Given the description of an element on the screen output the (x, y) to click on. 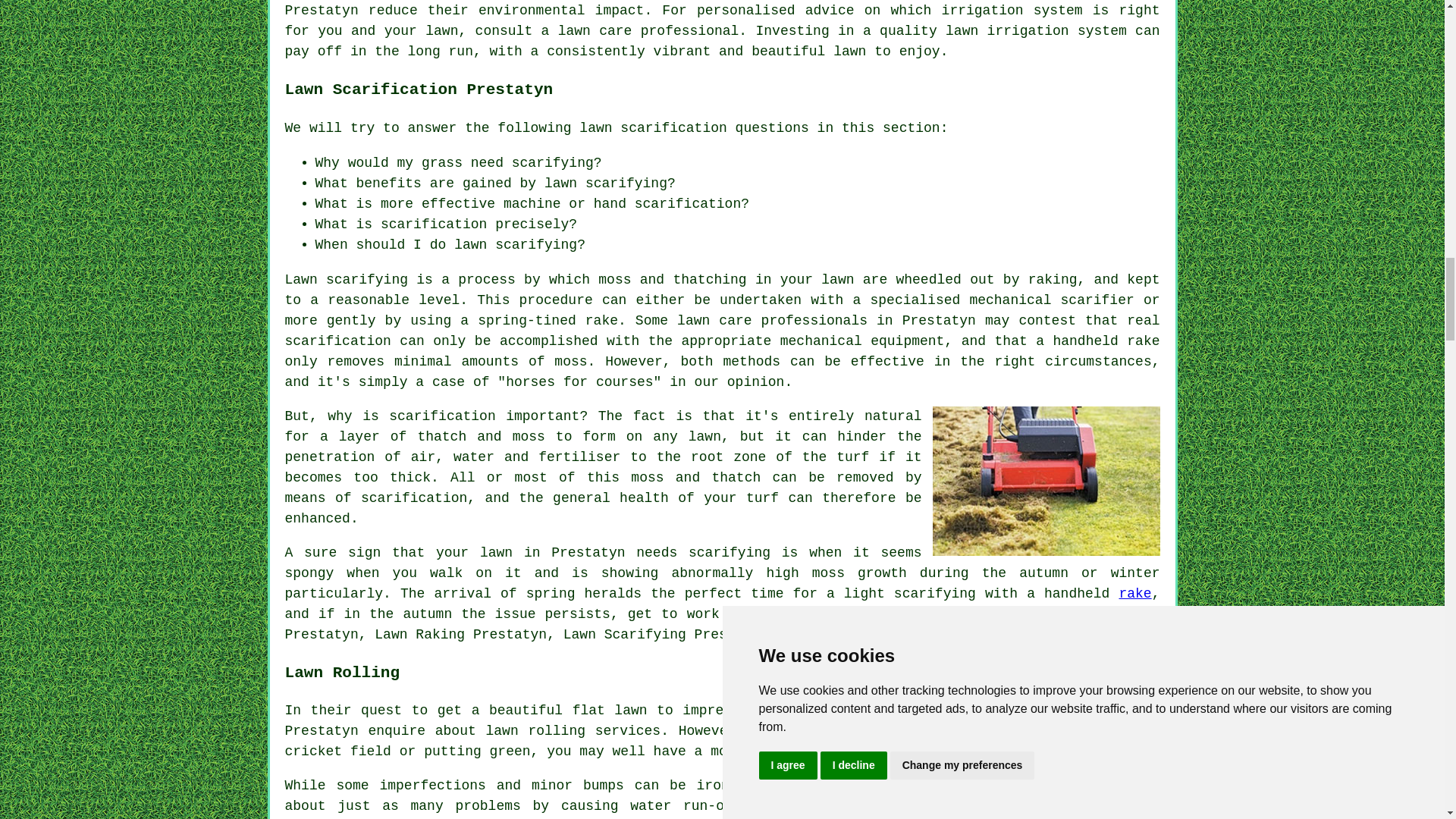
lawn rolling (868, 785)
lawn care (714, 319)
